Given the description of an element on the screen output the (x, y) to click on. 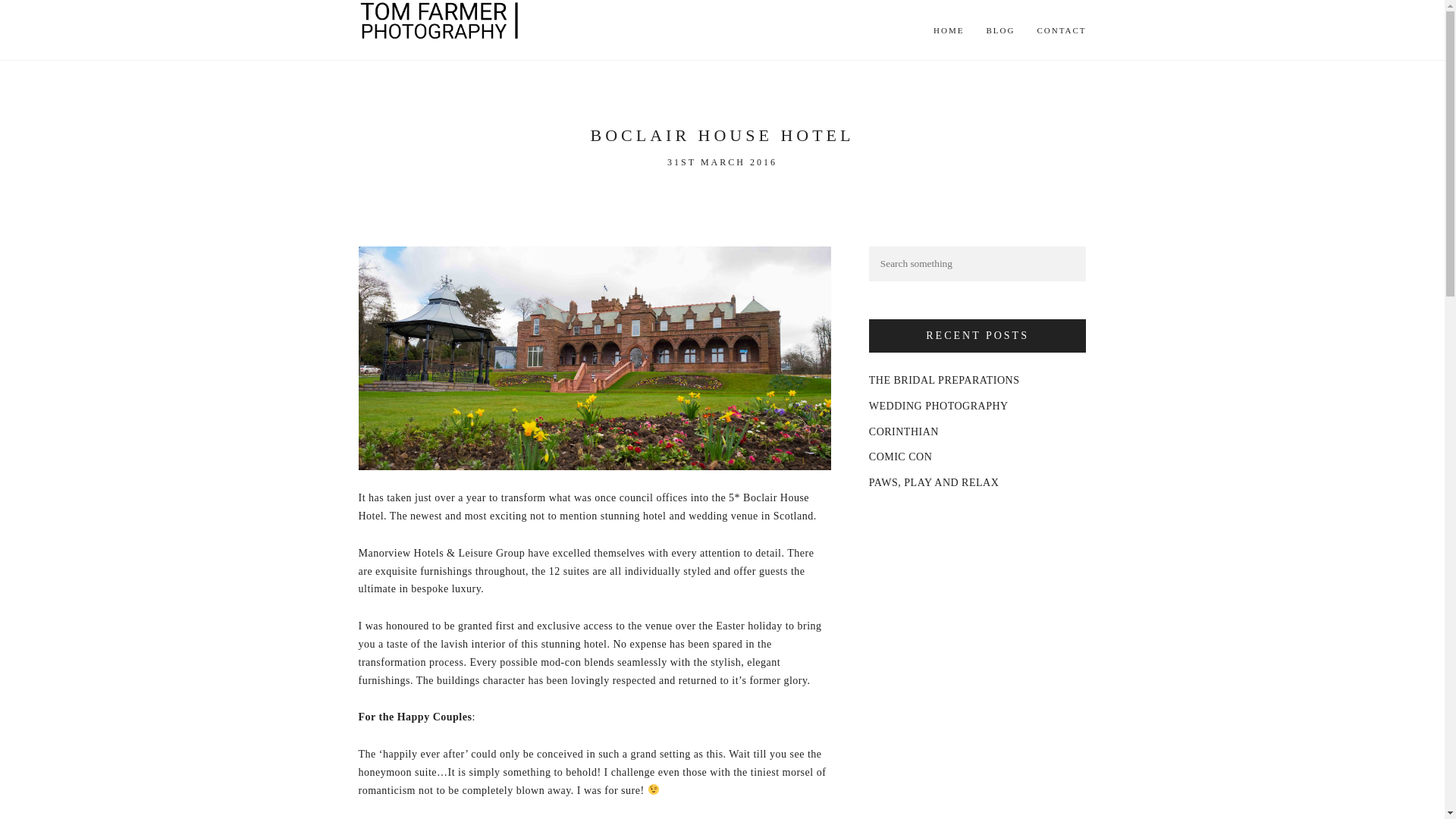
CORINTHIAN (904, 431)
PAWS, PLAY AND RELAX (933, 482)
THE BRIDAL PREPARATIONS (944, 379)
COMIC CON (900, 456)
WEDDING PHOTOGRAPHY (939, 405)
